Given the description of an element on the screen output the (x, y) to click on. 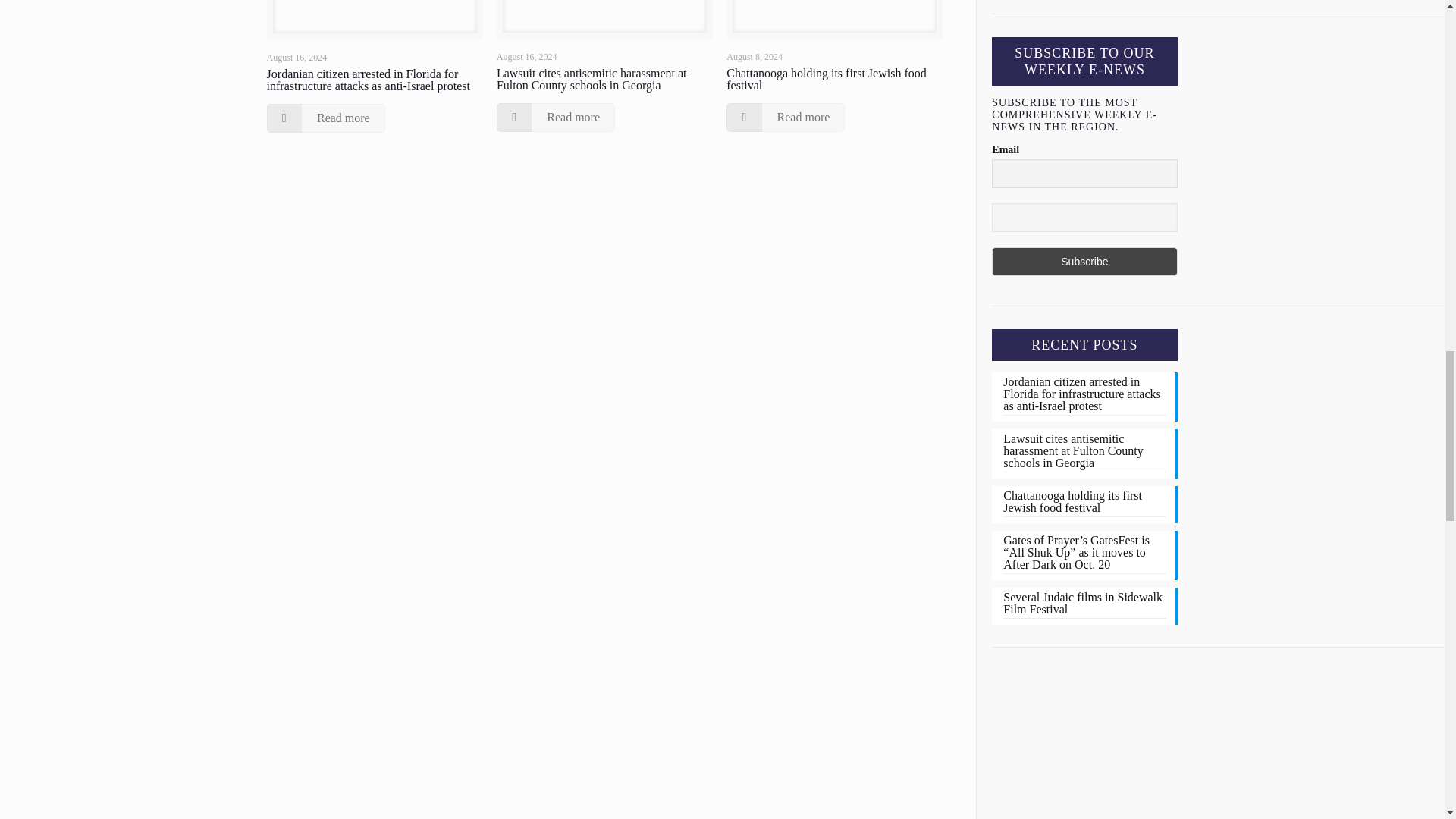
Read more (325, 118)
Subscribe (1083, 261)
Read more (555, 117)
